Given the description of an element on the screen output the (x, y) to click on. 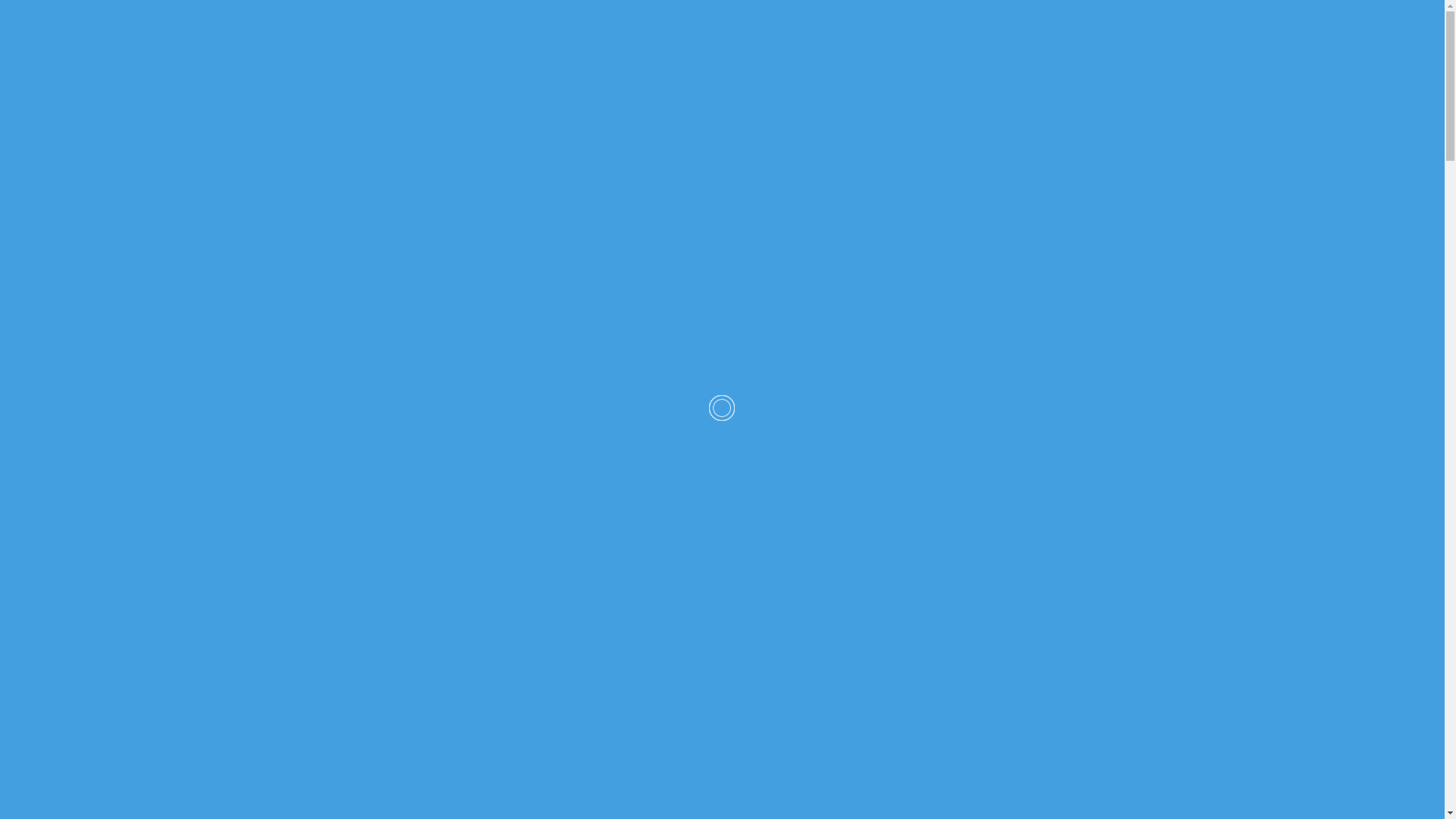
Market Metrics: Bond Yields Element type: text (1050, 647)
US Recession??? Element type: text (1050, 409)
Information Pages Element type: text (1099, 29)
Mute Element type: hover (740, 658)
Latest News Element type: text (930, 29)
Fullscreen Element type: hover (764, 658)
Home Element type: text (785, 29)
About Us Element type: text (850, 29)
Clients Element type: text (1004, 29)
Play Element type: hover (308, 658)
Market Metrics: Profitable vs Unprofitable Element type: text (1050, 337)
The Wisdom of Great Investors: What you need to know Element type: text (1050, 576)
Friday Tidbit Element type: text (1050, 807)
Recession Probability Indicator Element type: text (1050, 488)
Market Metrics: EPS Element type: text (1050, 727)
